Given the description of an element on the screen output the (x, y) to click on. 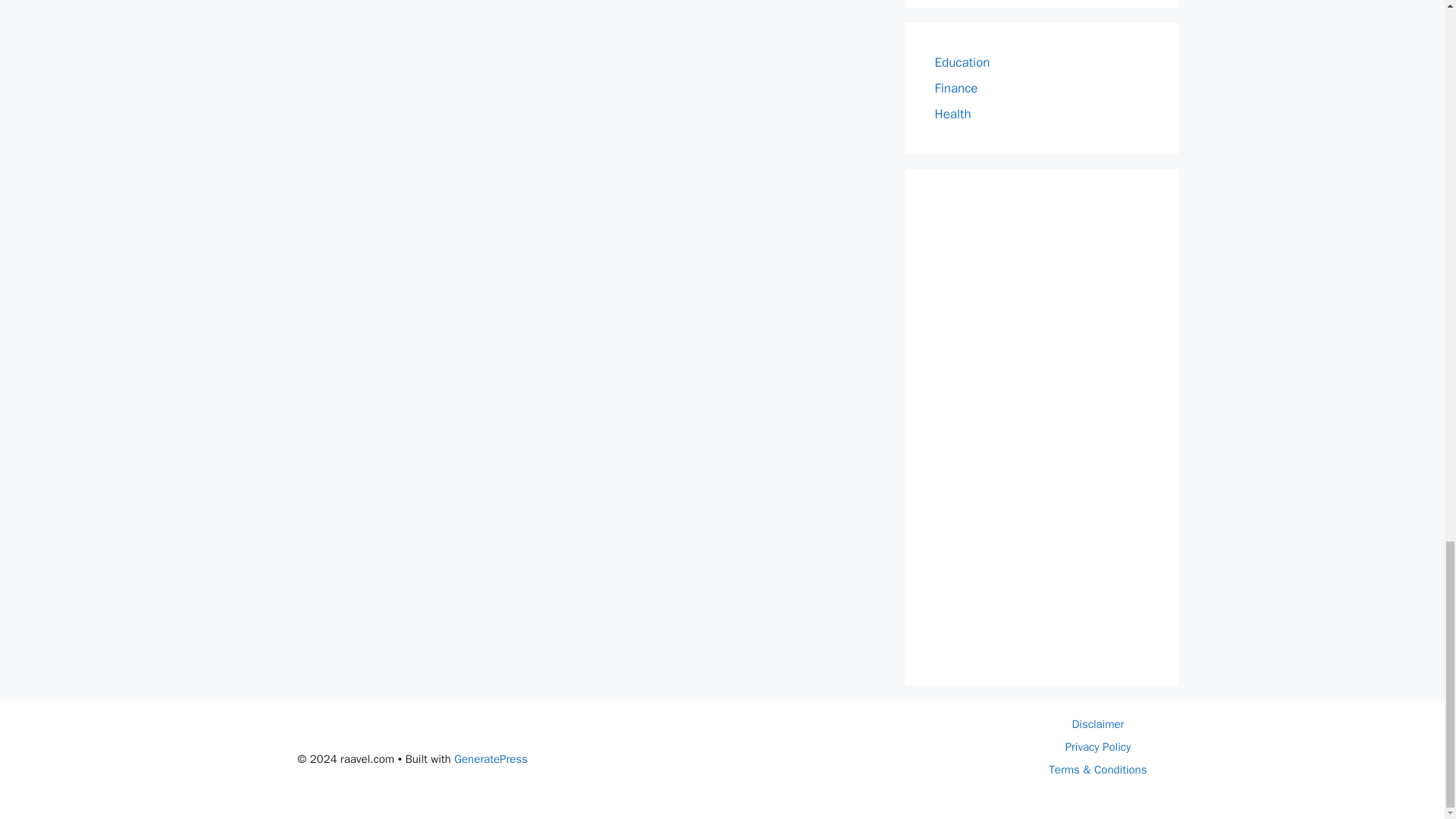
Privacy Policy (1098, 746)
Health (952, 114)
GeneratePress (490, 758)
Disclaimer (1097, 724)
Education (962, 62)
Finance (955, 88)
